Given the description of an element on the screen output the (x, y) to click on. 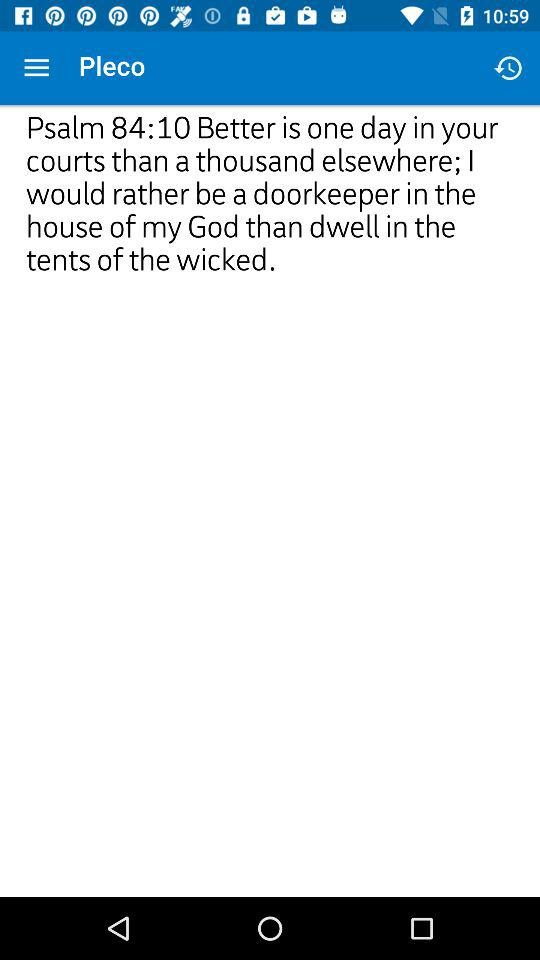
turn off item next to pleco item (36, 68)
